Given the description of an element on the screen output the (x, y) to click on. 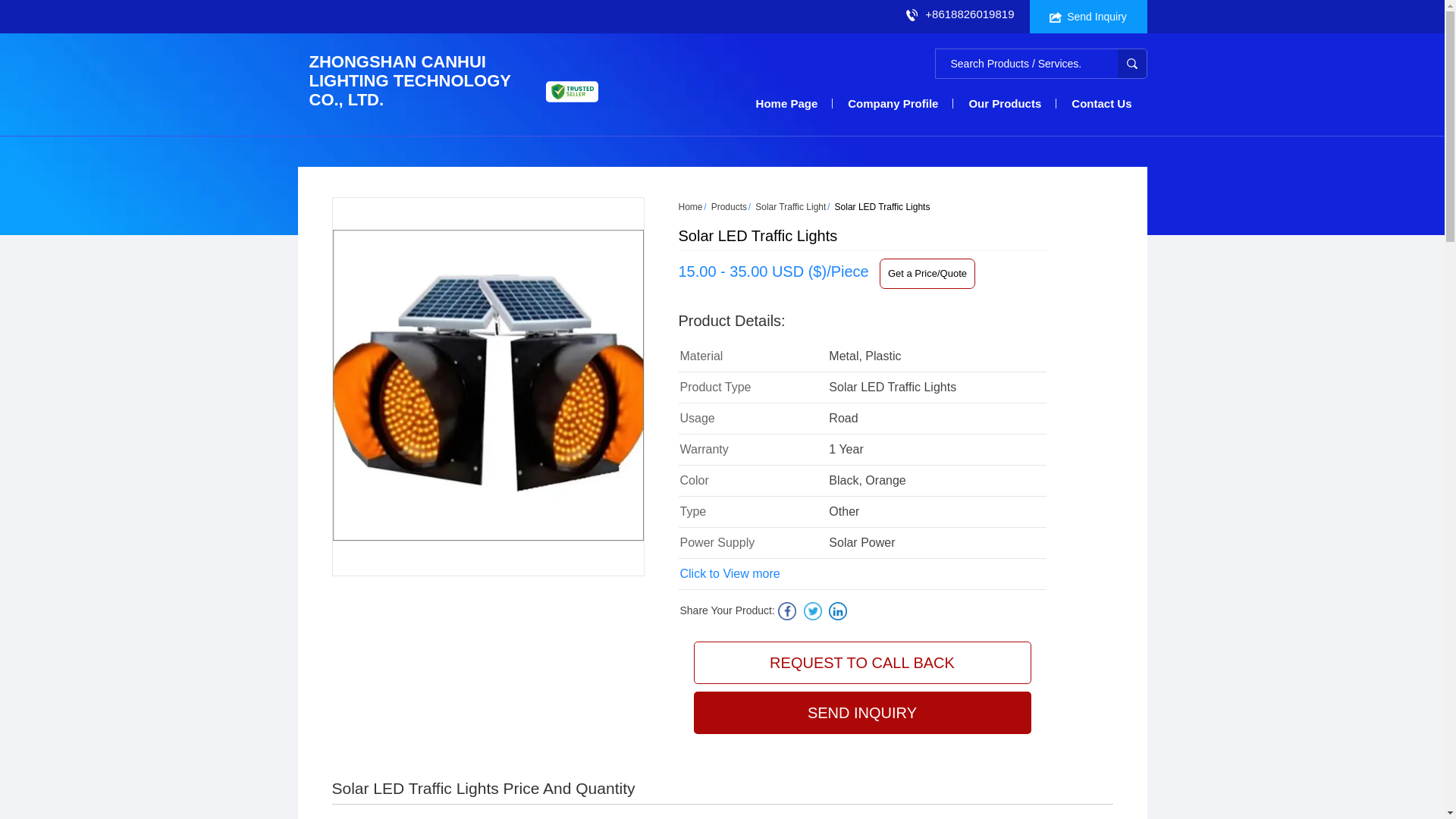
Contact Us (1102, 103)
Our Products (1005, 103)
Solar Traffic Light (790, 206)
ZHONGSHAN CANHUI LIGHTING TECHNOLOGY CO., LTD. (409, 80)
Products (728, 206)
SEND INQUIRY (861, 712)
Send Inquiry (1088, 16)
Company Profile (892, 103)
Home Page (786, 103)
submit (1132, 63)
Click to View more (728, 574)
submit (1132, 63)
Home (689, 206)
REQUEST TO CALL BACK (861, 662)
